Given the description of an element on the screen output the (x, y) to click on. 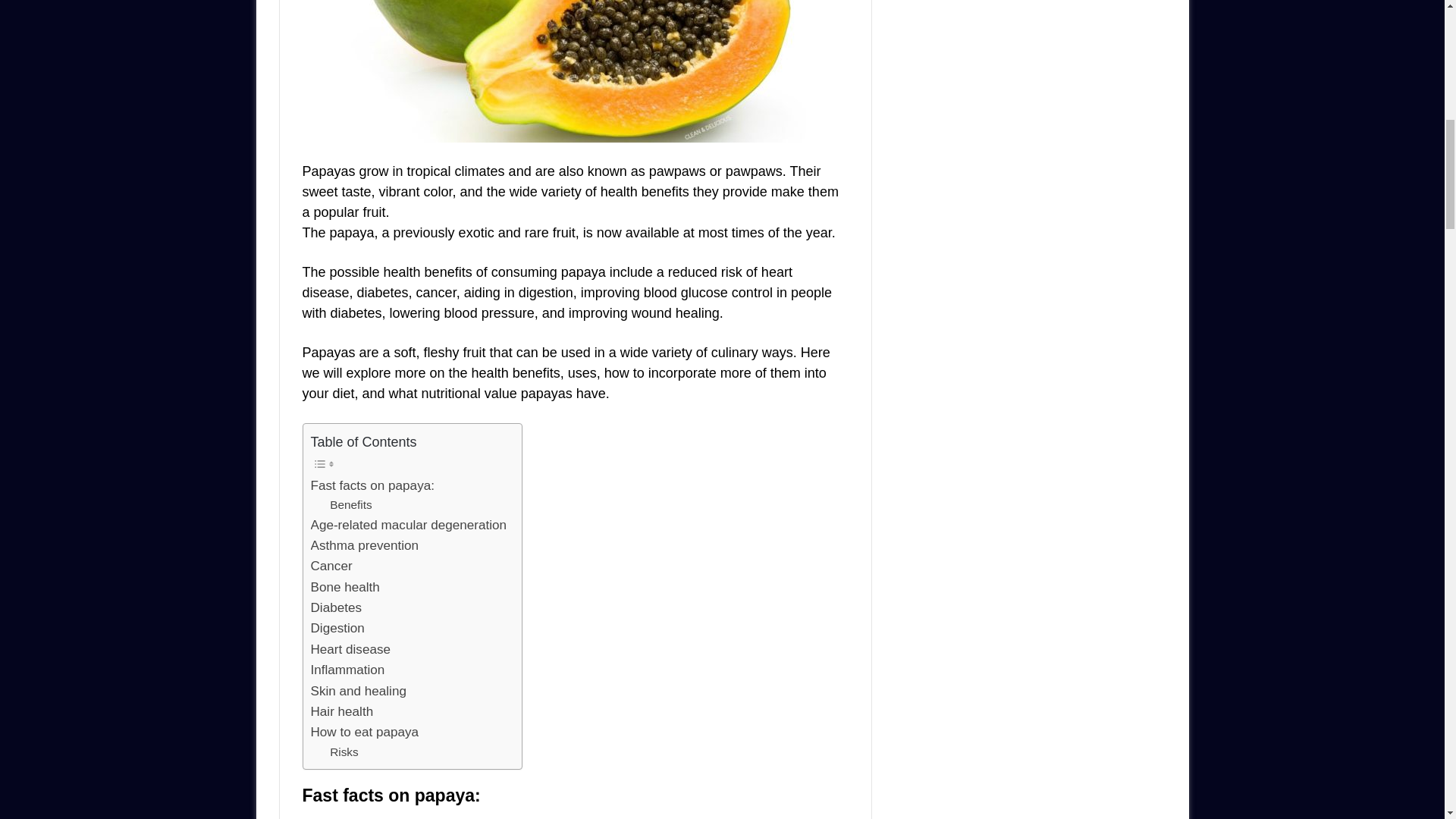
Hair health (342, 711)
Diabetes (336, 607)
Diabetes (336, 607)
Inflammation (348, 670)
Inflammation (348, 670)
Cancer (331, 566)
Fast facts on papaya: (372, 485)
Skin and healing (358, 690)
Asthma prevention (365, 545)
Benefits (351, 505)
